Given the description of an element on the screen output the (x, y) to click on. 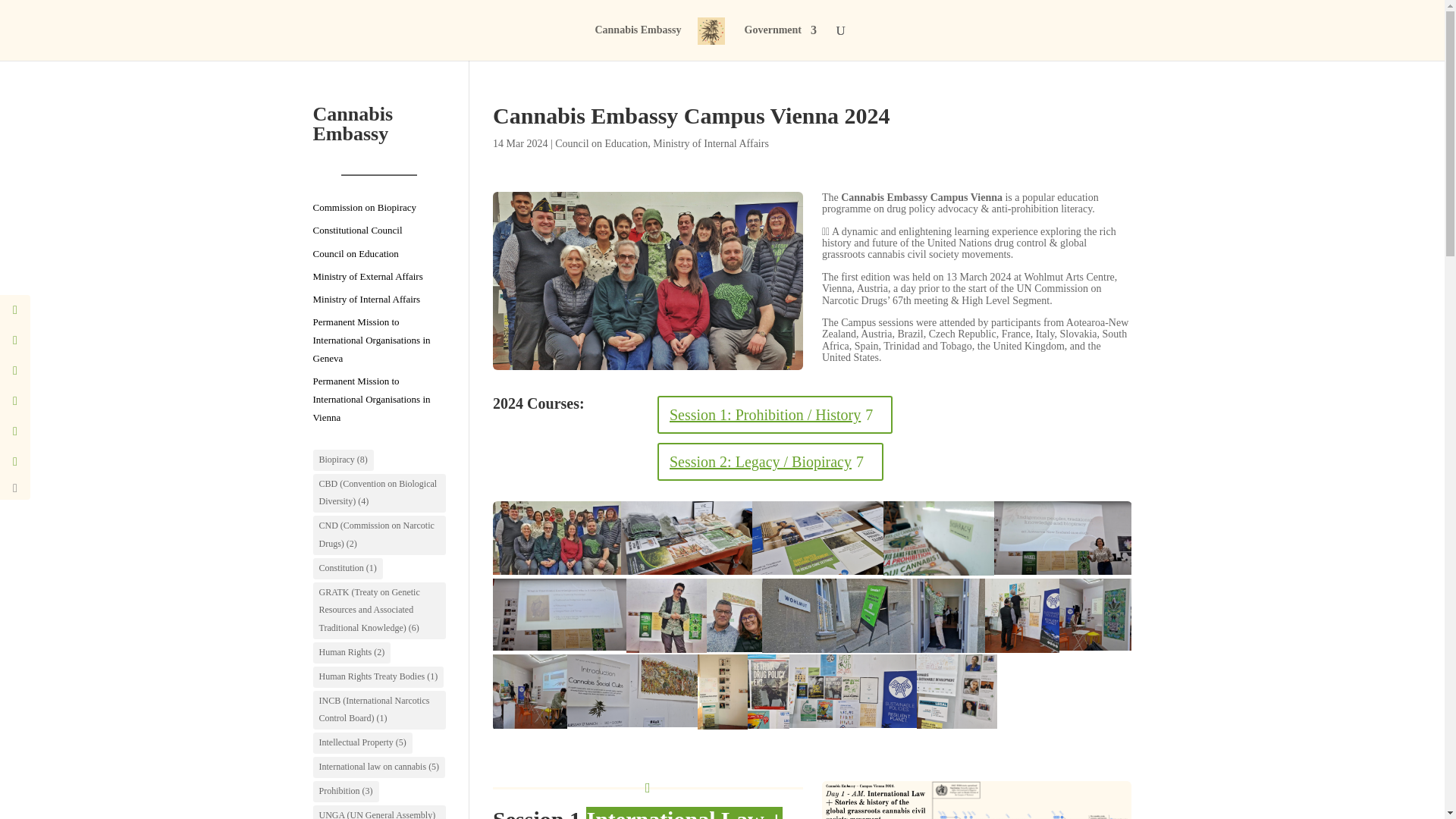
Constitutional Council (357, 229)
Commission on Biopiracy (364, 206)
Government (780, 42)
Council on Education (600, 143)
Ministry of External Affairs (367, 276)
Ministry of Internal Affairs (366, 298)
Permanent Mission to International Organisations in Vienna (371, 399)
Ministry of Internal Affairs (710, 143)
cannabisembassy-campusvienna2024-photo10 (648, 280)
Cannabis Embassy (637, 42)
Permanent Mission to International Organisations in Geneva (371, 339)
Council on Education (355, 253)
